Given the description of an element on the screen output the (x, y) to click on. 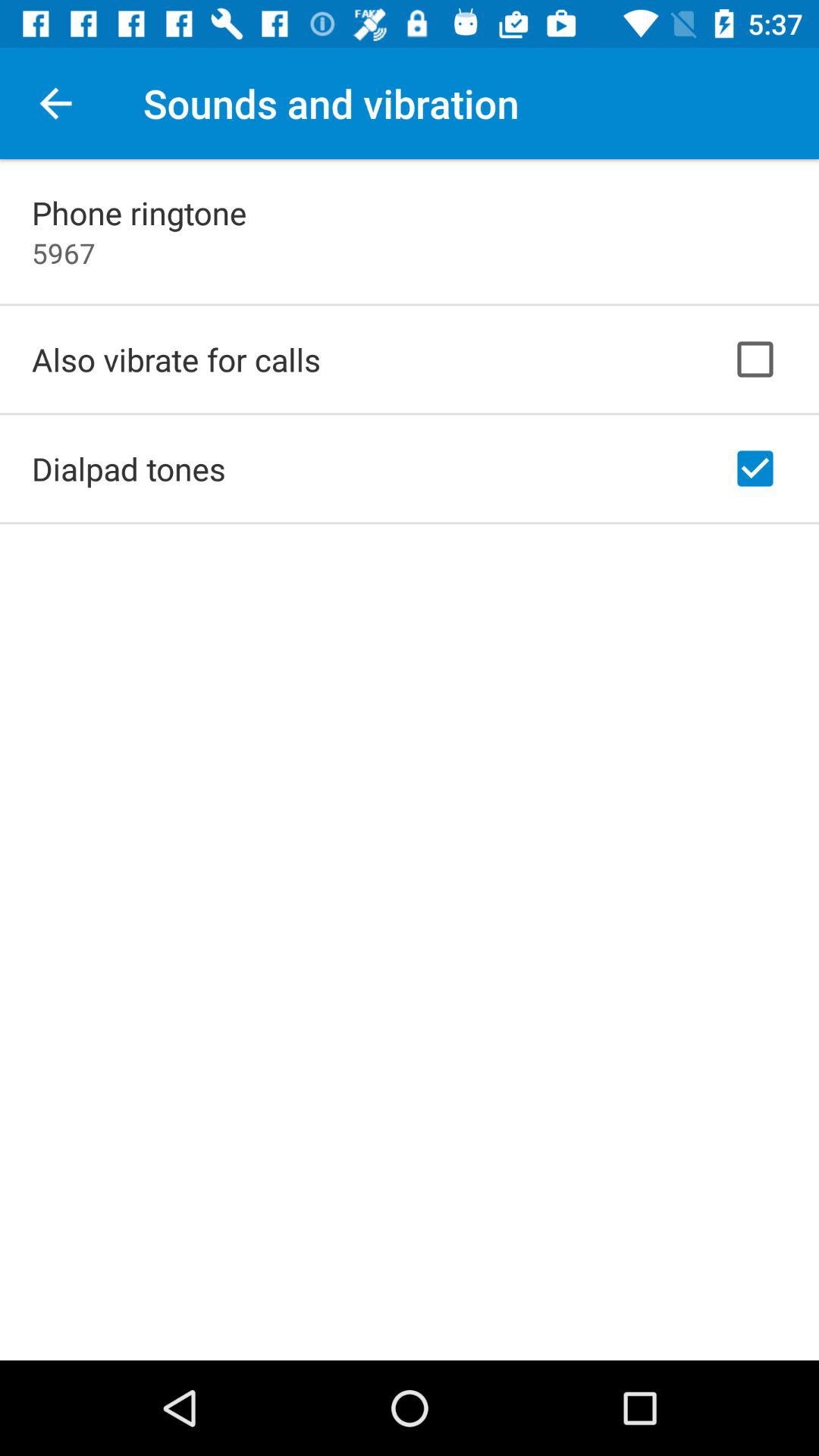
swipe until the phone ringtone (138, 212)
